Given the description of an element on the screen output the (x, y) to click on. 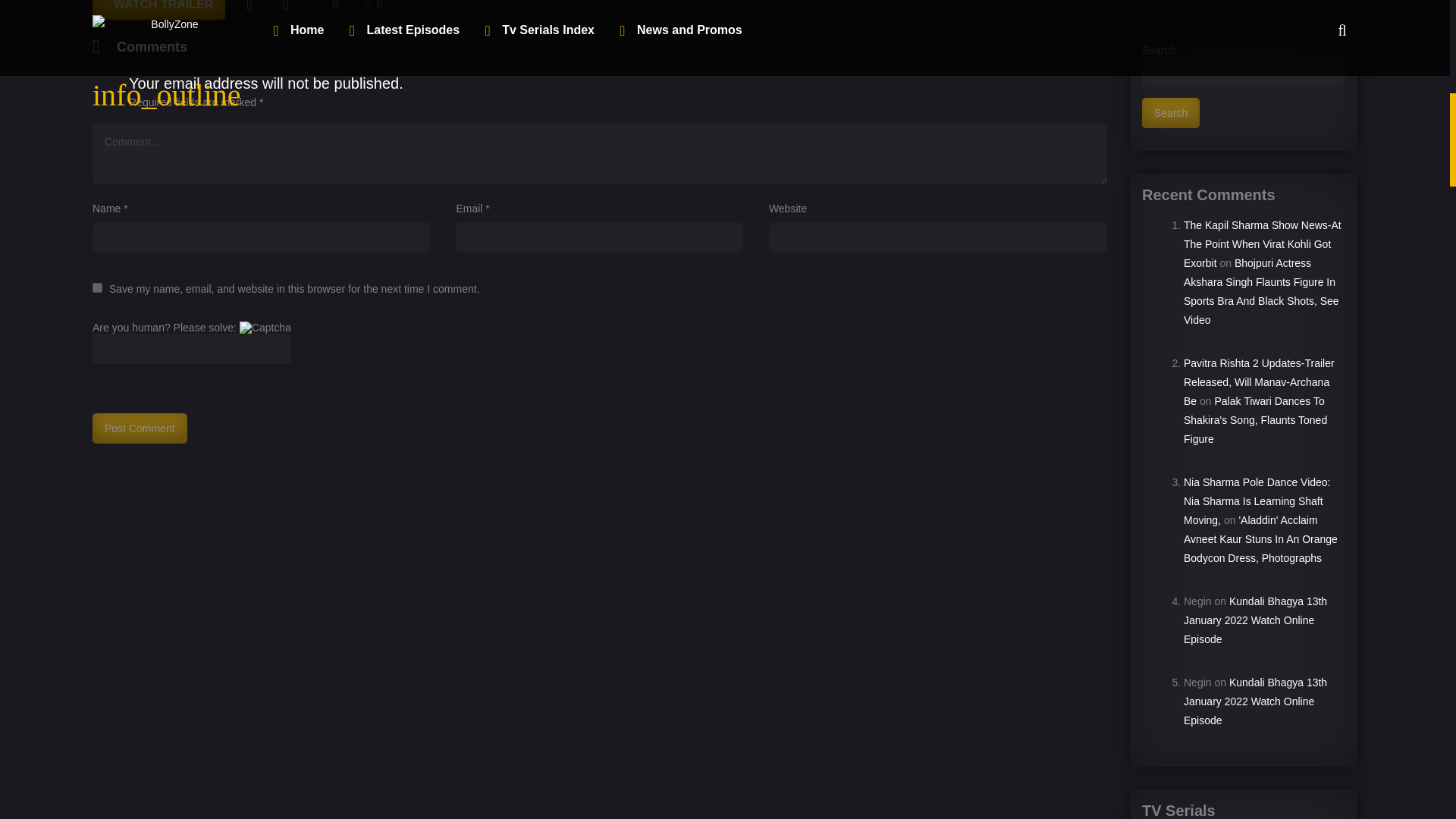
0 (330, 9)
Kundali Bhagya 13th January 2022 Watch Online Episode (1254, 620)
Post Comment (140, 428)
Kundali Bhagya 13th January 2022 Watch Online Episode (1254, 701)
0 (373, 9)
Palak Tiwari Dances To Shakira's Song, Flaunts Toned Figure (1254, 419)
WATCH TRAILER (159, 9)
Search (1170, 112)
Post Comment (140, 428)
yes (97, 287)
